Given the description of an element on the screen output the (x, y) to click on. 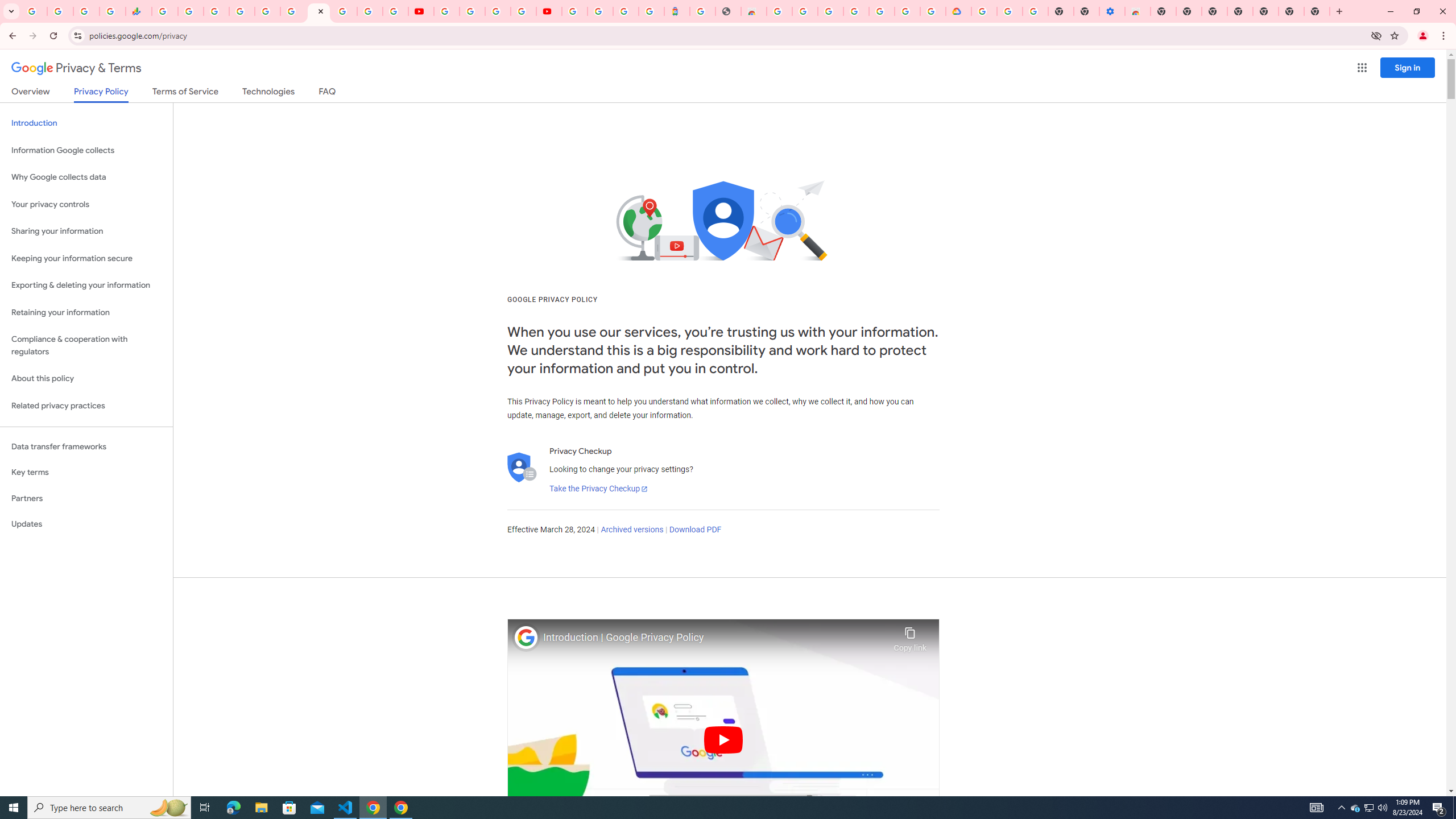
Information Google collects (86, 150)
Archived versions (631, 529)
Google Workspace Admin Community (34, 11)
Sign in - Google Accounts (907, 11)
Related privacy practices (86, 405)
Your privacy controls (86, 204)
Why Google collects data (86, 176)
Content Creator Programs & Opportunities - YouTube Creators (548, 11)
Compliance & cooperation with regulators (86, 345)
